Given the description of an element on the screen output the (x, y) to click on. 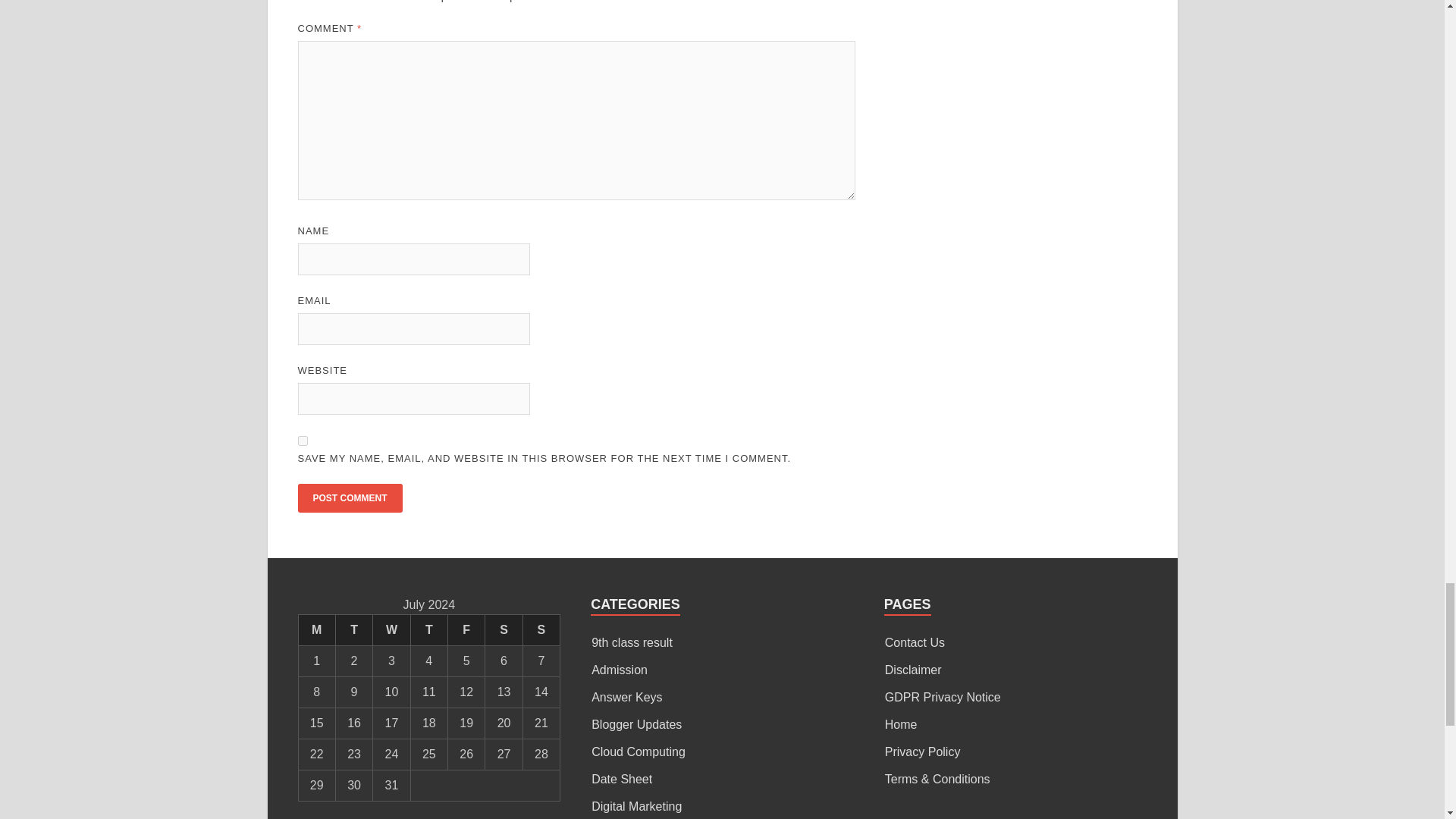
Thursday (428, 630)
Post Comment (349, 498)
Monday (316, 630)
yes (302, 440)
Post Comment (349, 498)
Friday (465, 630)
Wednesday (391, 630)
Tuesday (353, 630)
